Given the description of an element on the screen output the (x, y) to click on. 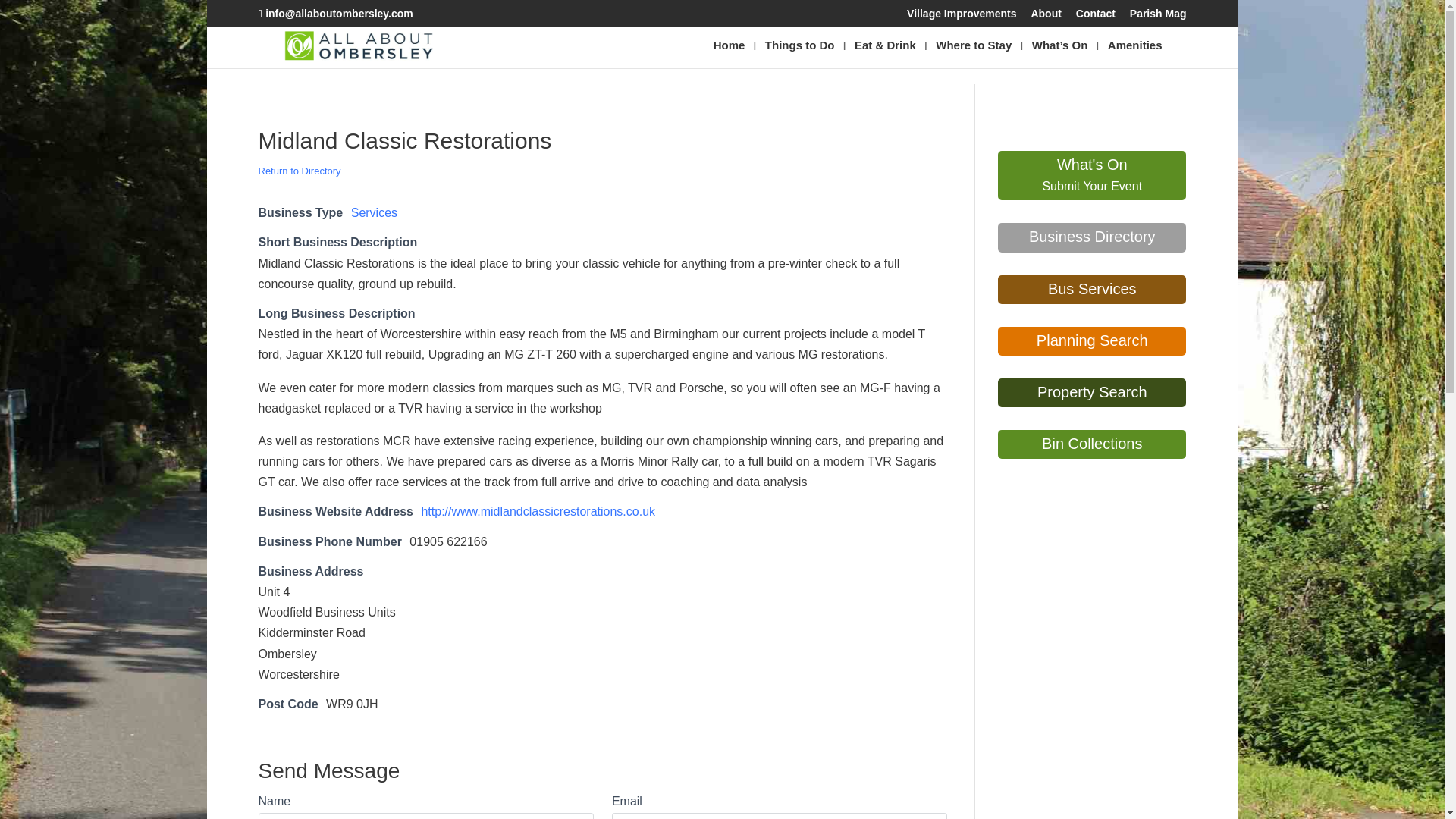
Submit Your Event (1091, 185)
Planning Search (1092, 341)
About (1045, 16)
Parish Mag (1157, 16)
Contact (1095, 16)
Bus Services (1092, 289)
Home (729, 53)
Amenities (1134, 53)
Return to Directory (298, 170)
What's On (1091, 164)
